Given the description of an element on the screen output the (x, y) to click on. 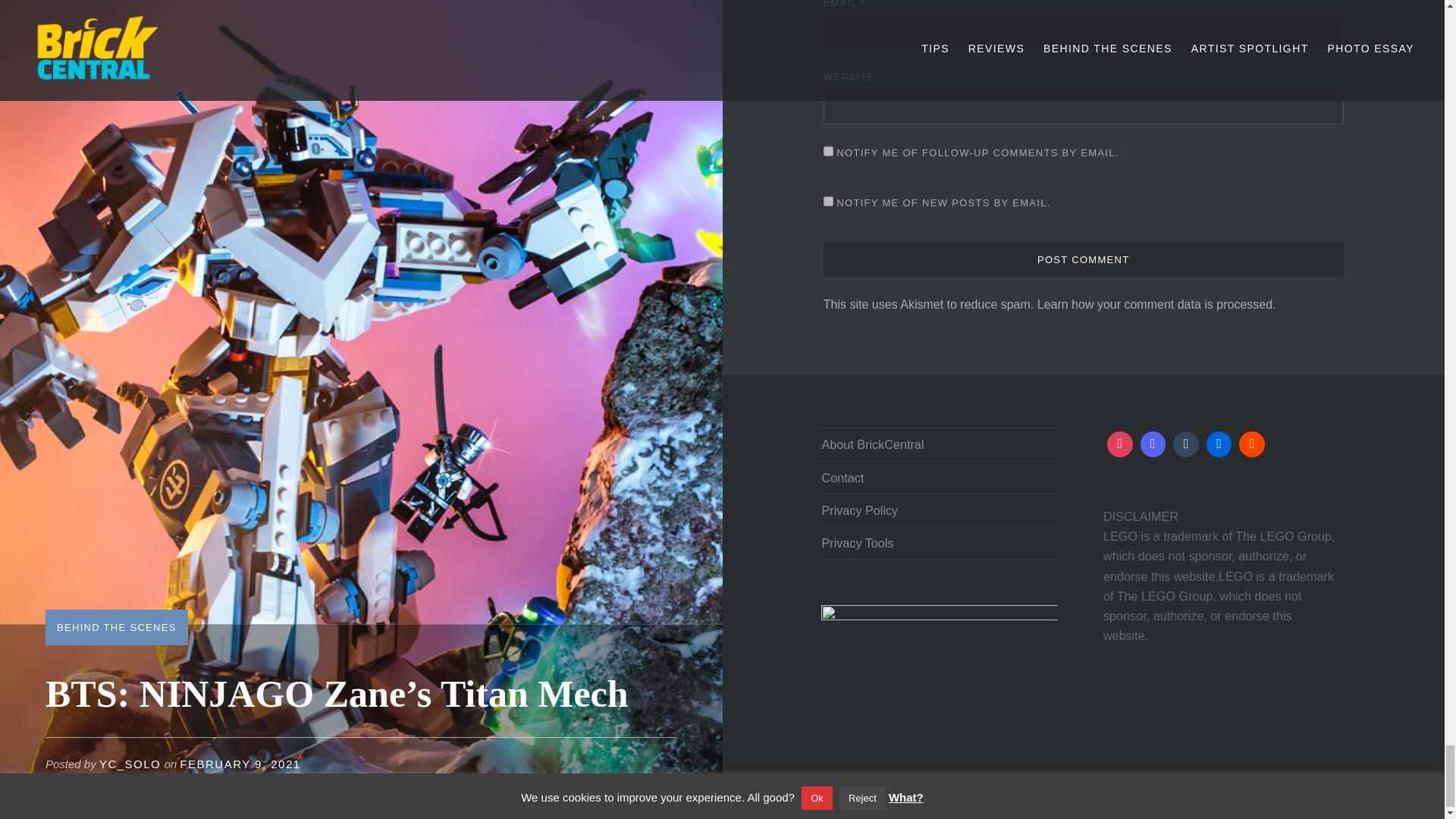
Privacy Policy (939, 510)
Proudly powered by WordPress (999, 797)
Learn how your comment data is processed (1154, 304)
subscribe (828, 201)
About BrickCentral (939, 444)
Flickr (1219, 444)
subscribe (828, 151)
Privacy Tools (939, 542)
Contact (939, 477)
Post Comment (1083, 259)
Reddit (1251, 444)
Instagram (1120, 444)
Post Comment (1083, 259)
Discord2 (1153, 444)
Tumblr (1185, 444)
